Given the description of an element on the screen output the (x, y) to click on. 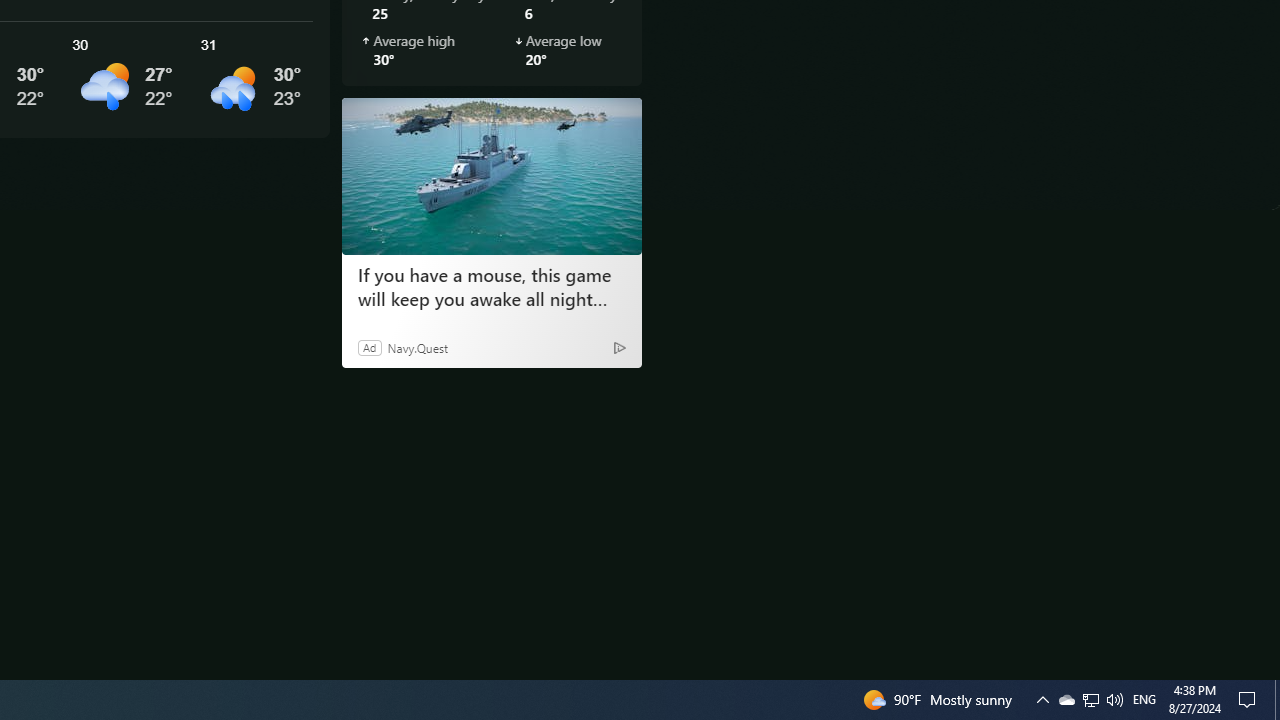
User Promoted Notification Area (1066, 699)
Tray Input Indicator - English (United States) (1091, 699)
Action Center, No new notifications (1090, 699)
Show desktop (1144, 699)
Notification Chevron (1250, 699)
Q2790: 100% (1277, 699)
